Given the description of an element on the screen output the (x, y) to click on. 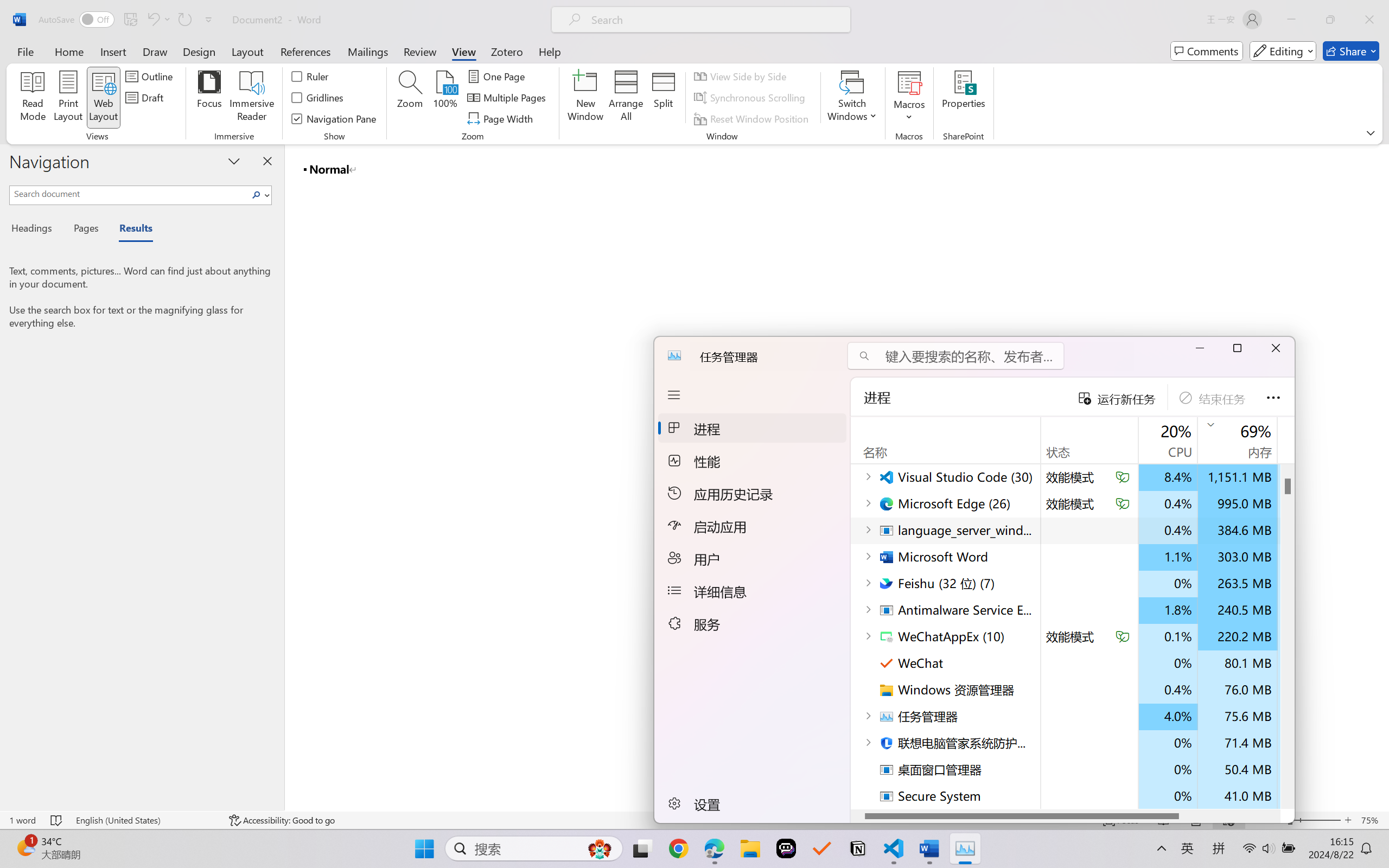
Insert (112, 51)
New Window (585, 97)
View Macros (909, 81)
Google Chrome (679, 848)
Mode (1283, 50)
Search (259, 194)
Task Pane Options (233, 161)
Search document (128, 193)
Design (199, 51)
Arrange All (625, 97)
Customize Quick Access Toolbar (208, 19)
Layout (246, 51)
